Given the description of an element on the screen output the (x, y) to click on. 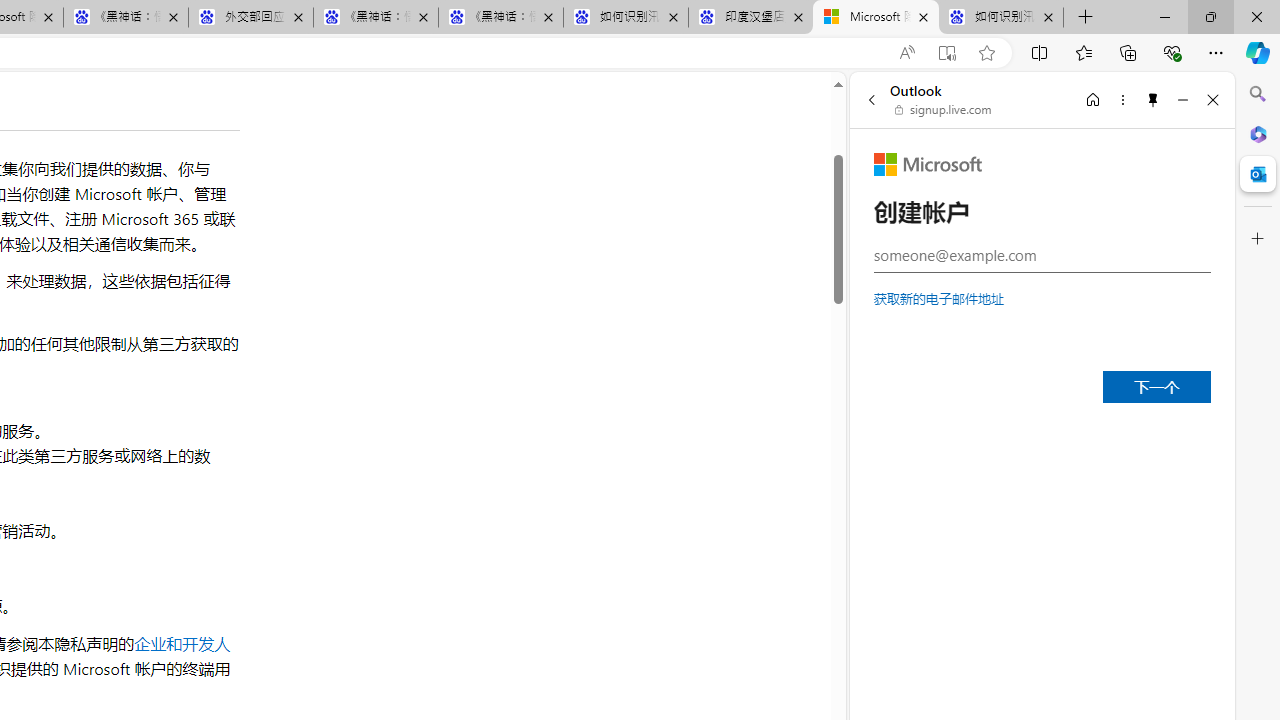
Microsoft (927, 164)
Unpin side pane (1153, 99)
